Given the description of an element on the screen output the (x, y) to click on. 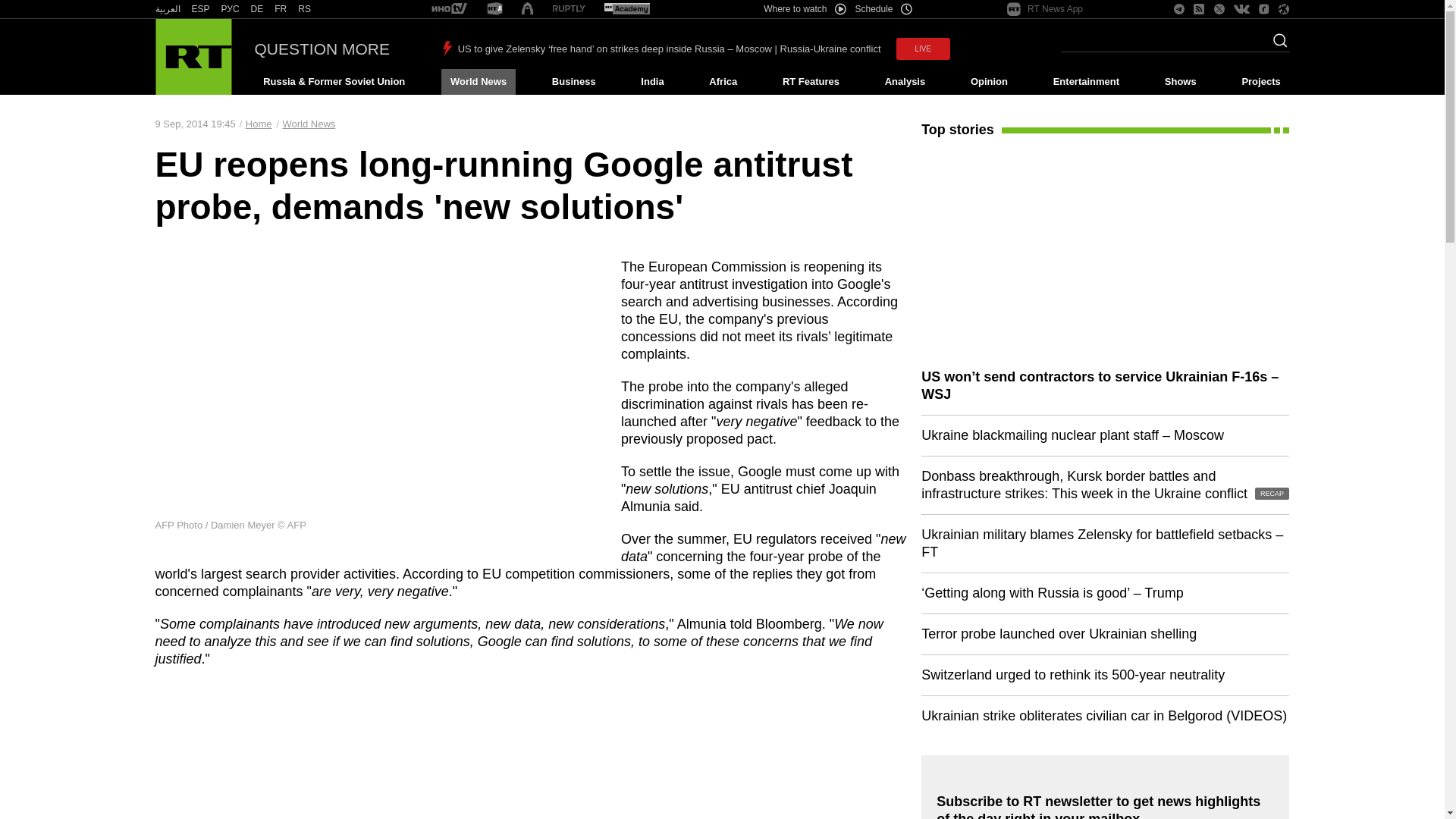
RT  (280, 9)
QUESTION MORE (322, 48)
RT  (448, 9)
RS (304, 9)
FR (280, 9)
ESP (199, 9)
Shows (1180, 81)
Search (1276, 44)
RT  (199, 9)
Projects (1261, 81)
